Given the description of an element on the screen output the (x, y) to click on. 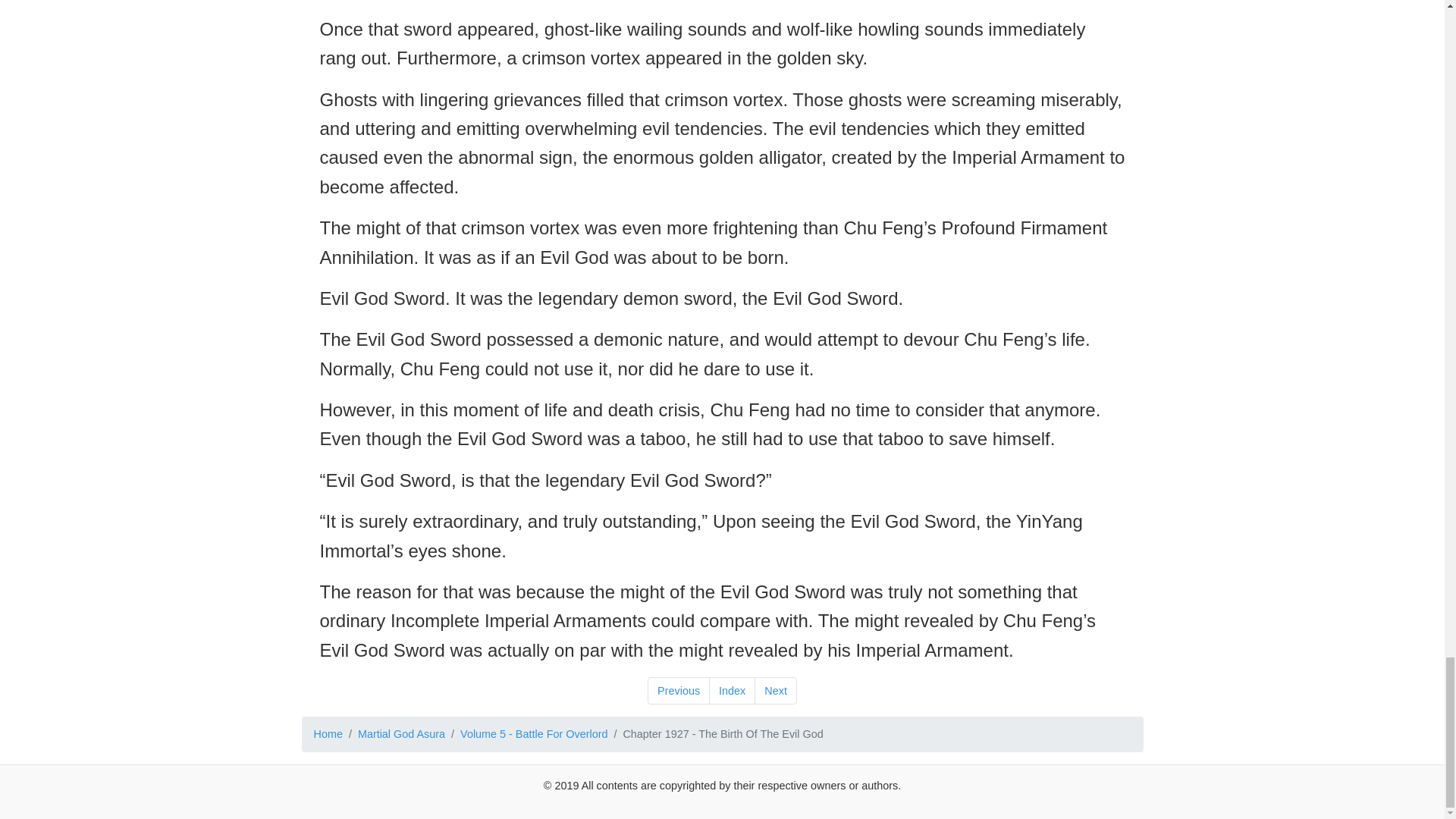
Home (328, 734)
Previous (678, 690)
Martial God Asura (401, 734)
Index (732, 690)
Volume 5 - Battle For Overlord (533, 734)
Next (775, 690)
